Given the description of an element on the screen output the (x, y) to click on. 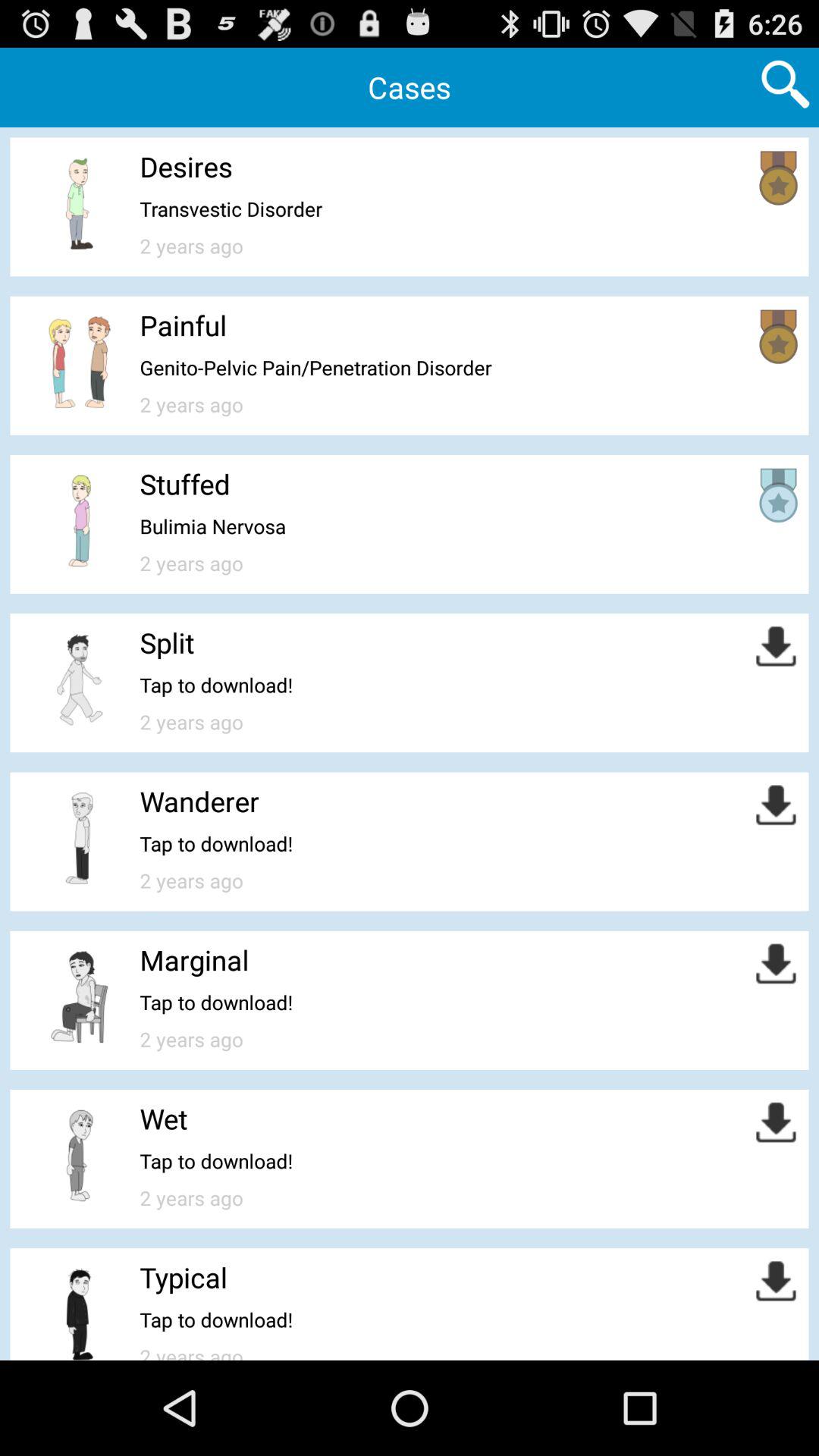
flip to the split (166, 642)
